Given the description of an element on the screen output the (x, y) to click on. 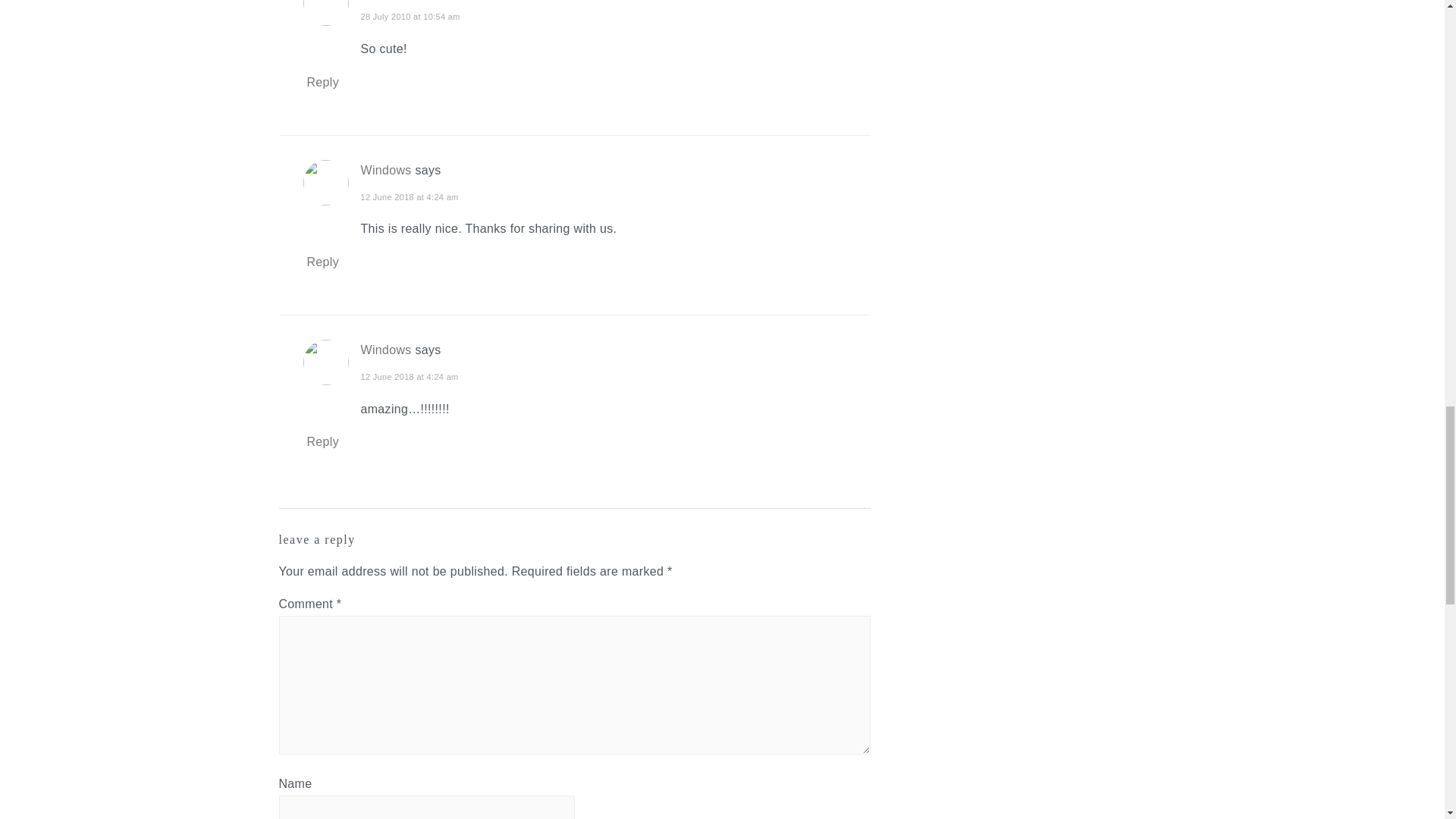
Reply (322, 261)
Windows (386, 169)
28 July 2010 at 10:54 am (410, 16)
12 June 2018 at 4:24 am (409, 376)
Reply (322, 441)
Reply (322, 82)
Windows (386, 349)
12 June 2018 at 4:24 am (409, 196)
